Given the description of an element on the screen output the (x, y) to click on. 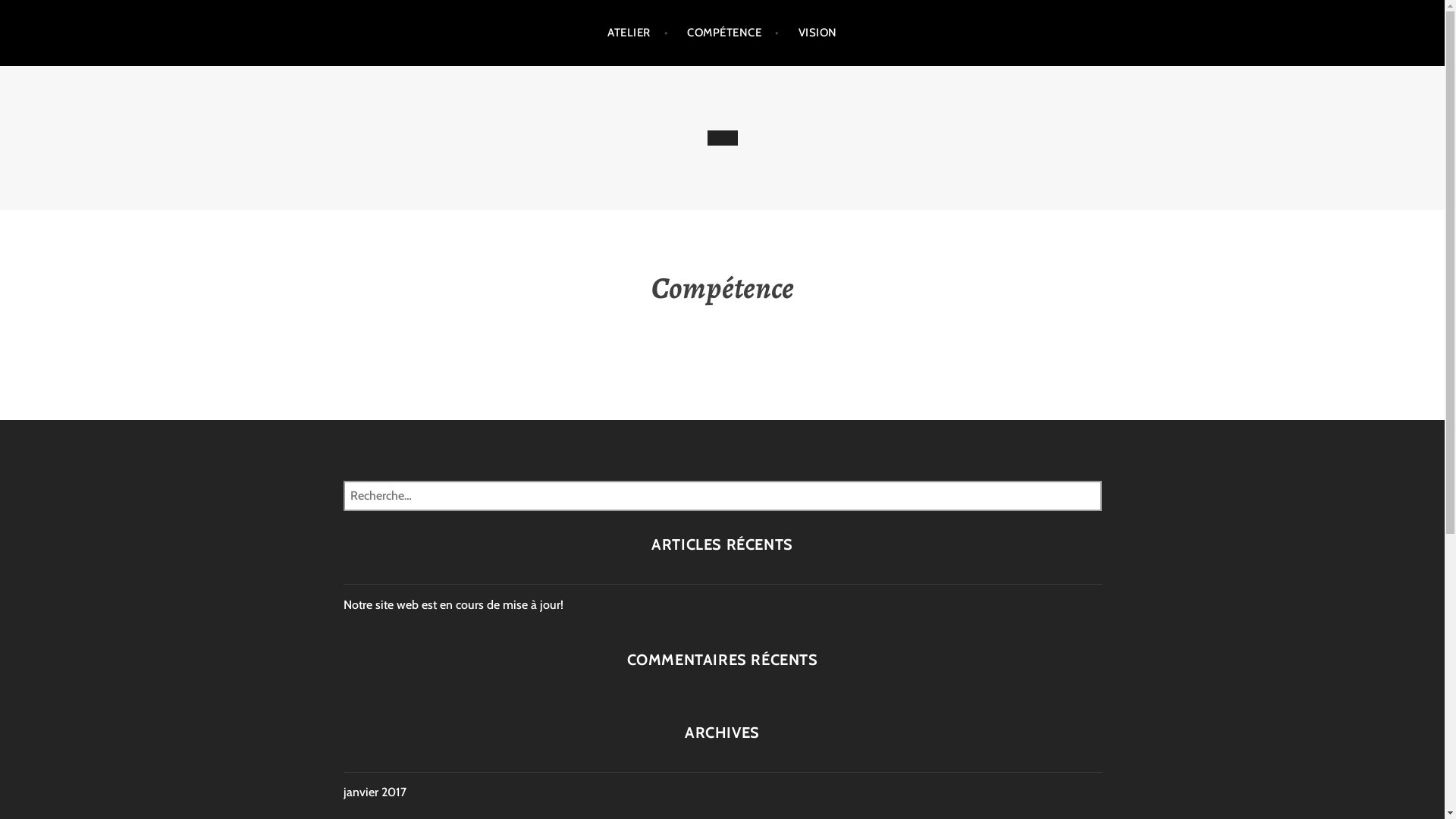
janvier 2017 Element type: text (373, 791)
ATELIER Element type: text (637, 32)
VISION Element type: text (817, 32)
Rechercher Element type: text (54, 15)
Aller au contenu principal Element type: text (0, 0)
